Given the description of an element on the screen output the (x, y) to click on. 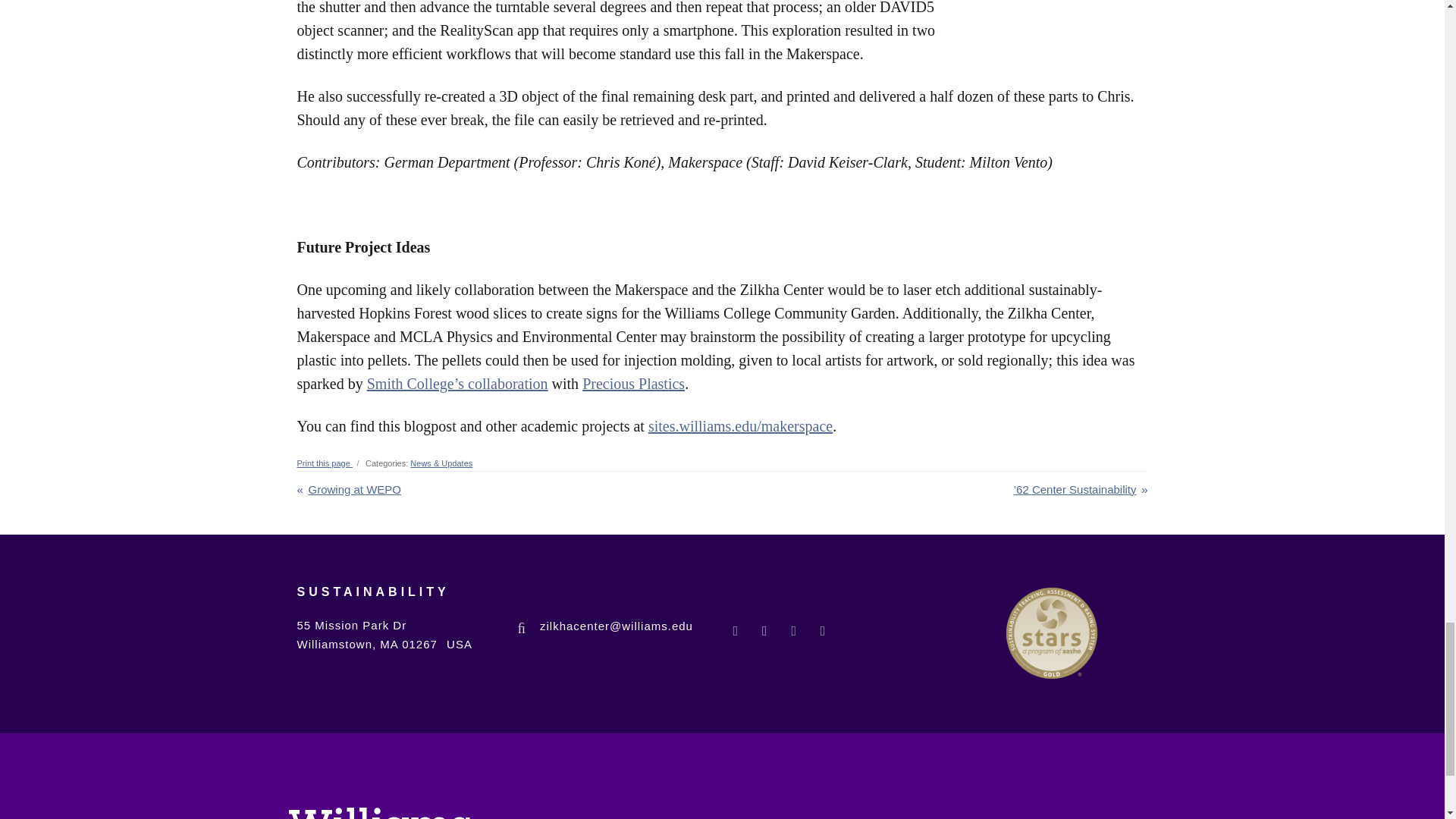
Williams College (379, 813)
